Given the description of an element on the screen output the (x, y) to click on. 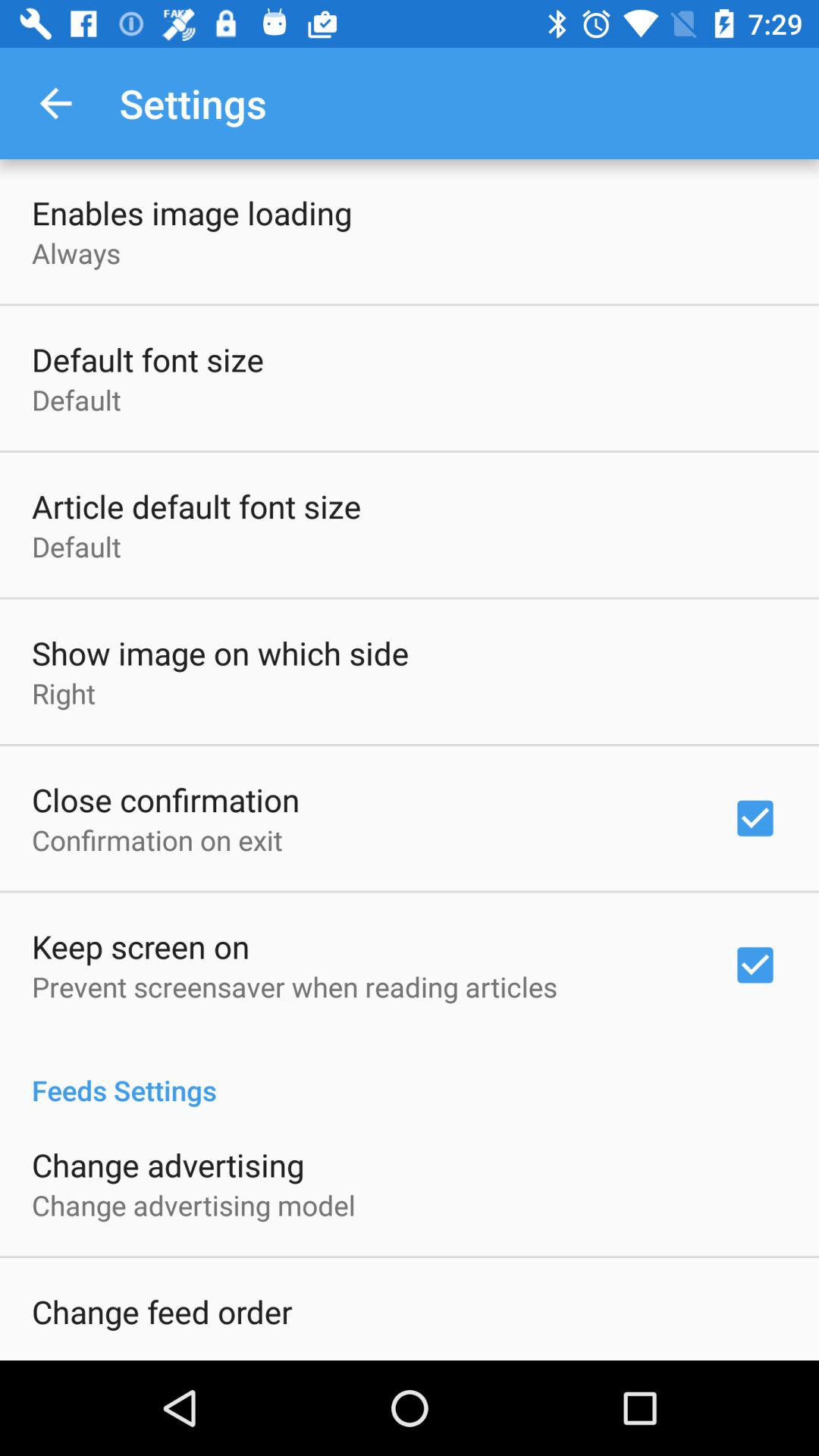
tap item below confirmation on exit icon (140, 946)
